Given the description of an element on the screen output the (x, y) to click on. 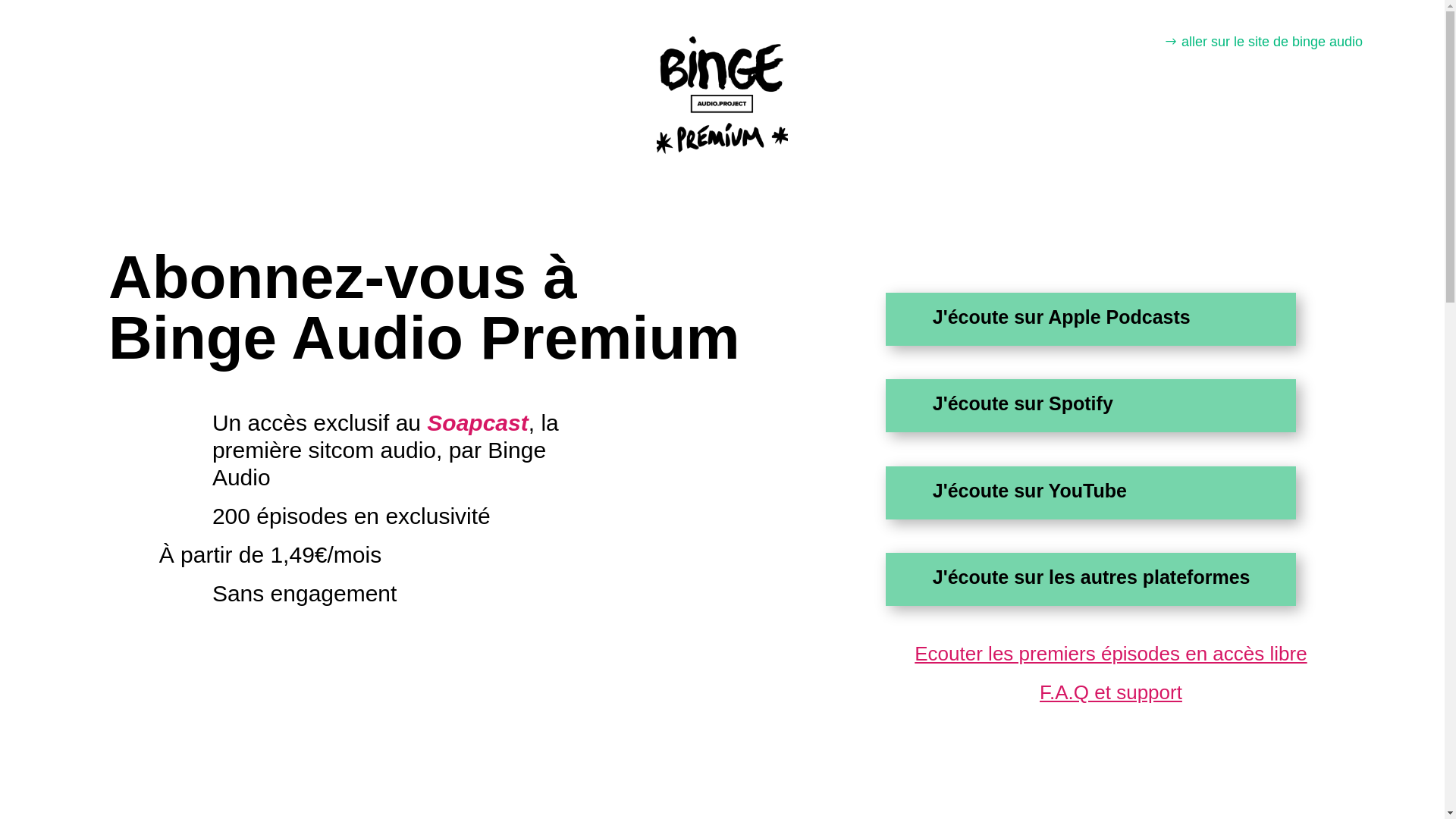
cropped-Binge-Premium.png Element type: hover (721, 90)
Soapcast Element type: text (476, 422)
aller sur le site de binge audio Element type: text (1263, 41)
F.A.Q et support Element type: text (1110, 691)
